Given the description of an element on the screen output the (x, y) to click on. 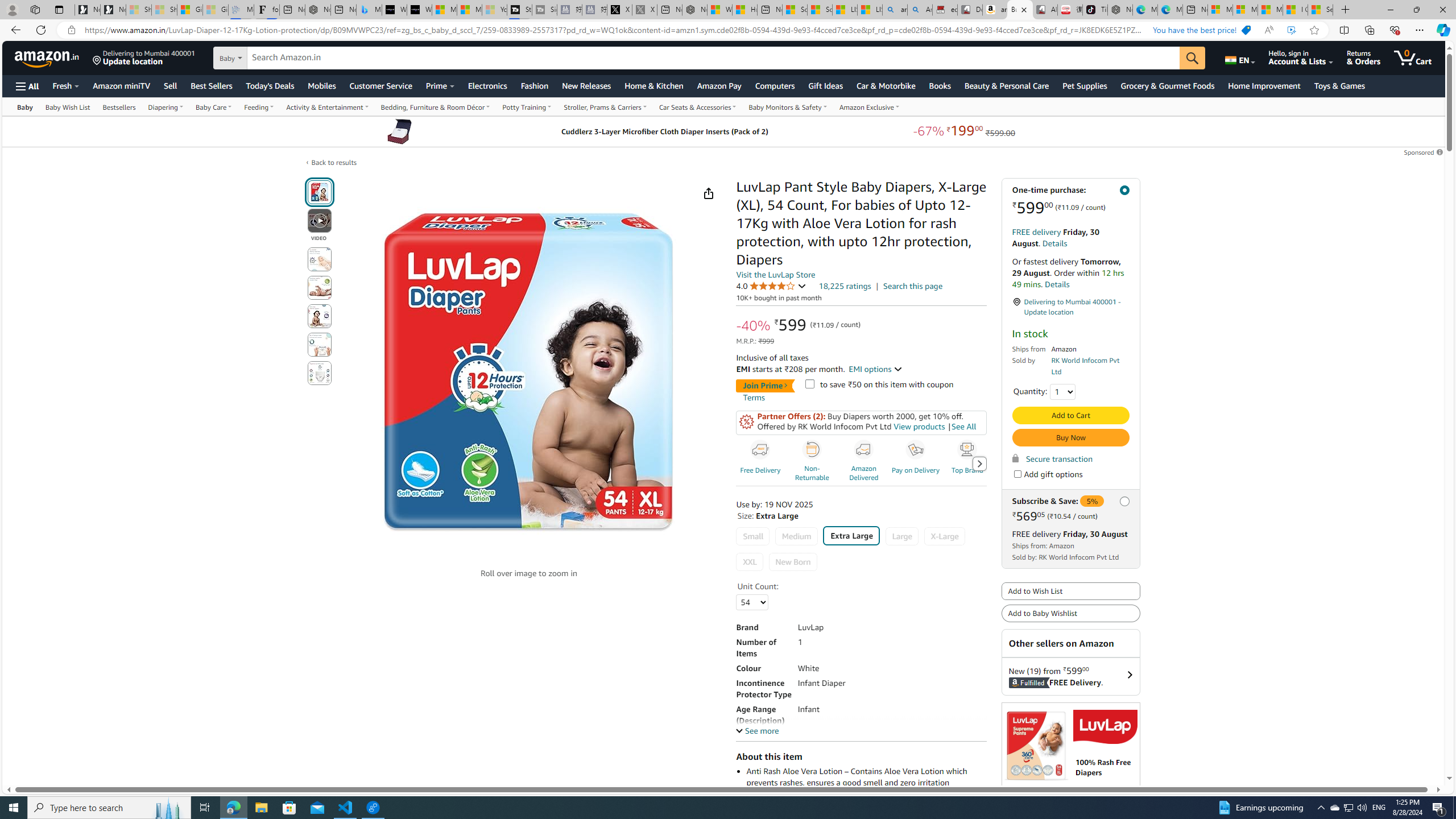
RK World Infocom Pvt Ltd (1085, 365)
Baby Wish List (67, 106)
Pay on Delivery (915, 449)
Amazon Delivered (865, 462)
Join Prime (764, 385)
Toys & Games (1339, 85)
Buy Now (1069, 437)
New Born (792, 561)
Amazon Pay (719, 85)
Delivering to Mumbai 400001 Update location (143, 57)
Books (939, 85)
Logo (1105, 727)
